Given the description of an element on the screen output the (x, y) to click on. 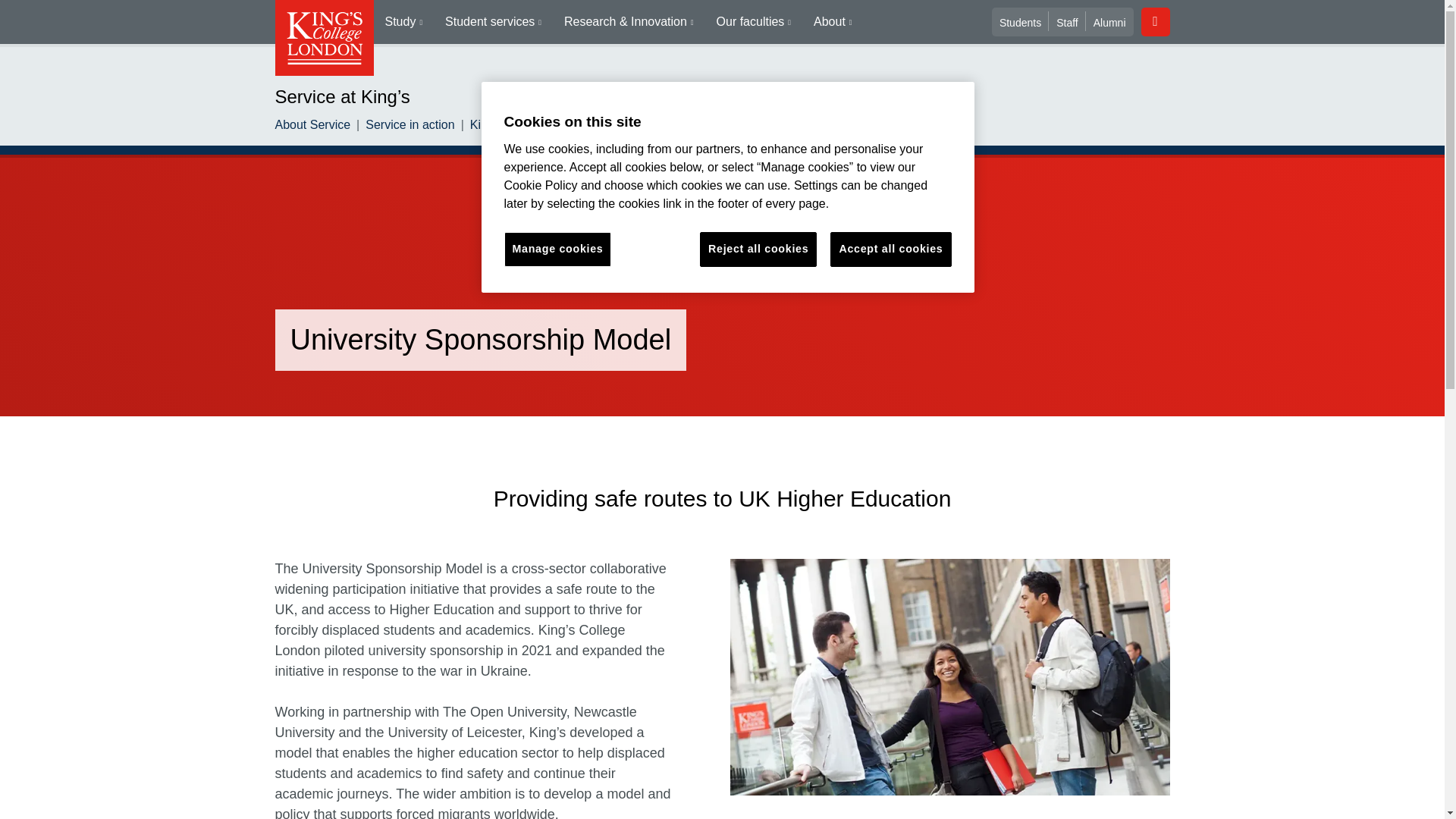
Study (402, 22)
Student services (493, 22)
Study (402, 22)
Student services (493, 22)
King's College London - Back to homepage (323, 38)
Our faculties (753, 22)
King's College London (323, 38)
